Given the description of an element on the screen output the (x, y) to click on. 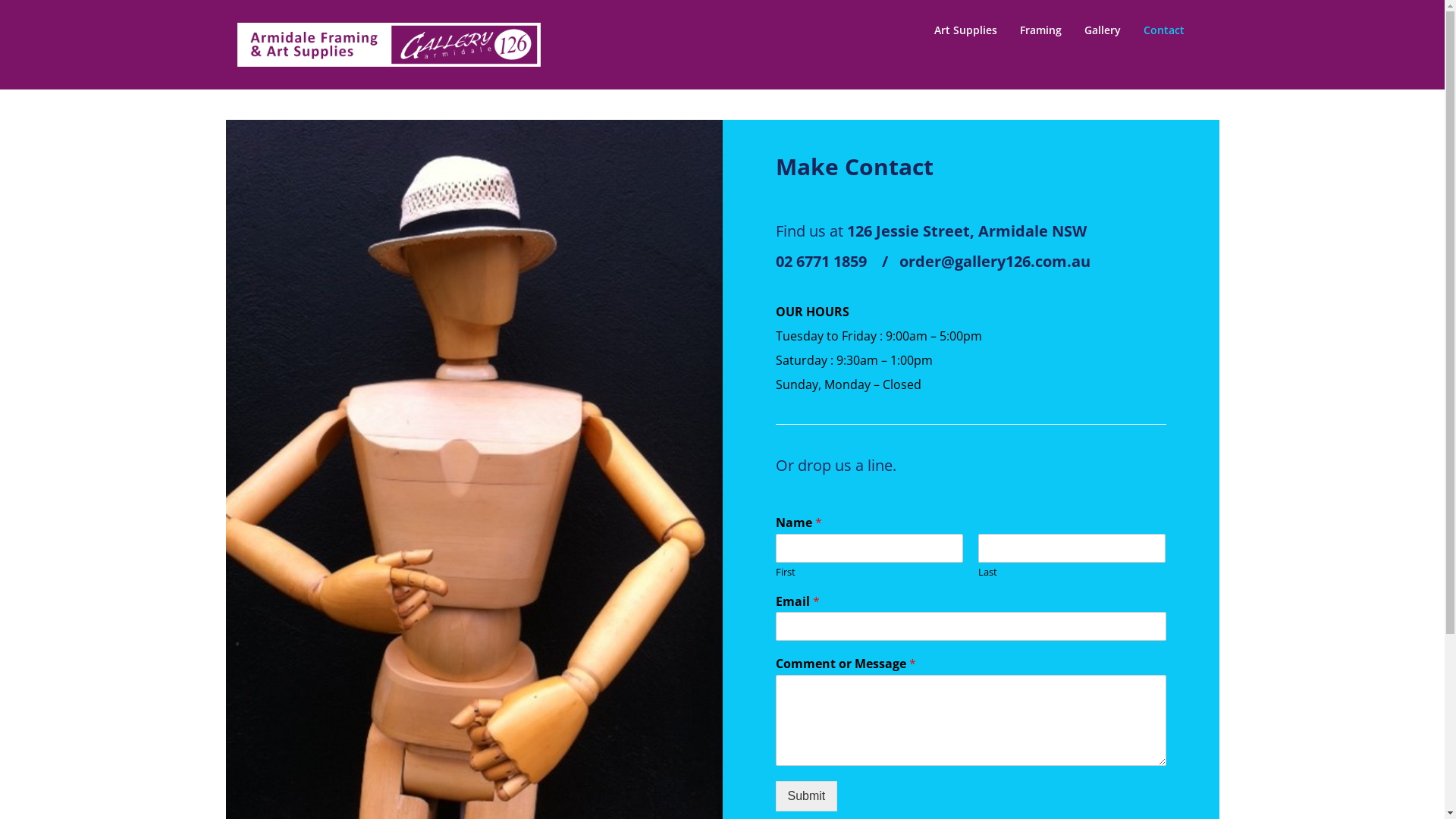
Submit Element type: text (806, 796)
Gallery Element type: text (1102, 30)
Art Supplies Element type: text (965, 30)
Contact Element type: text (1163, 30)
For all your Framing and Art supply needs Element type: hover (391, 95)
Framing Element type: text (1040, 30)
